Given the description of an element on the screen output the (x, y) to click on. 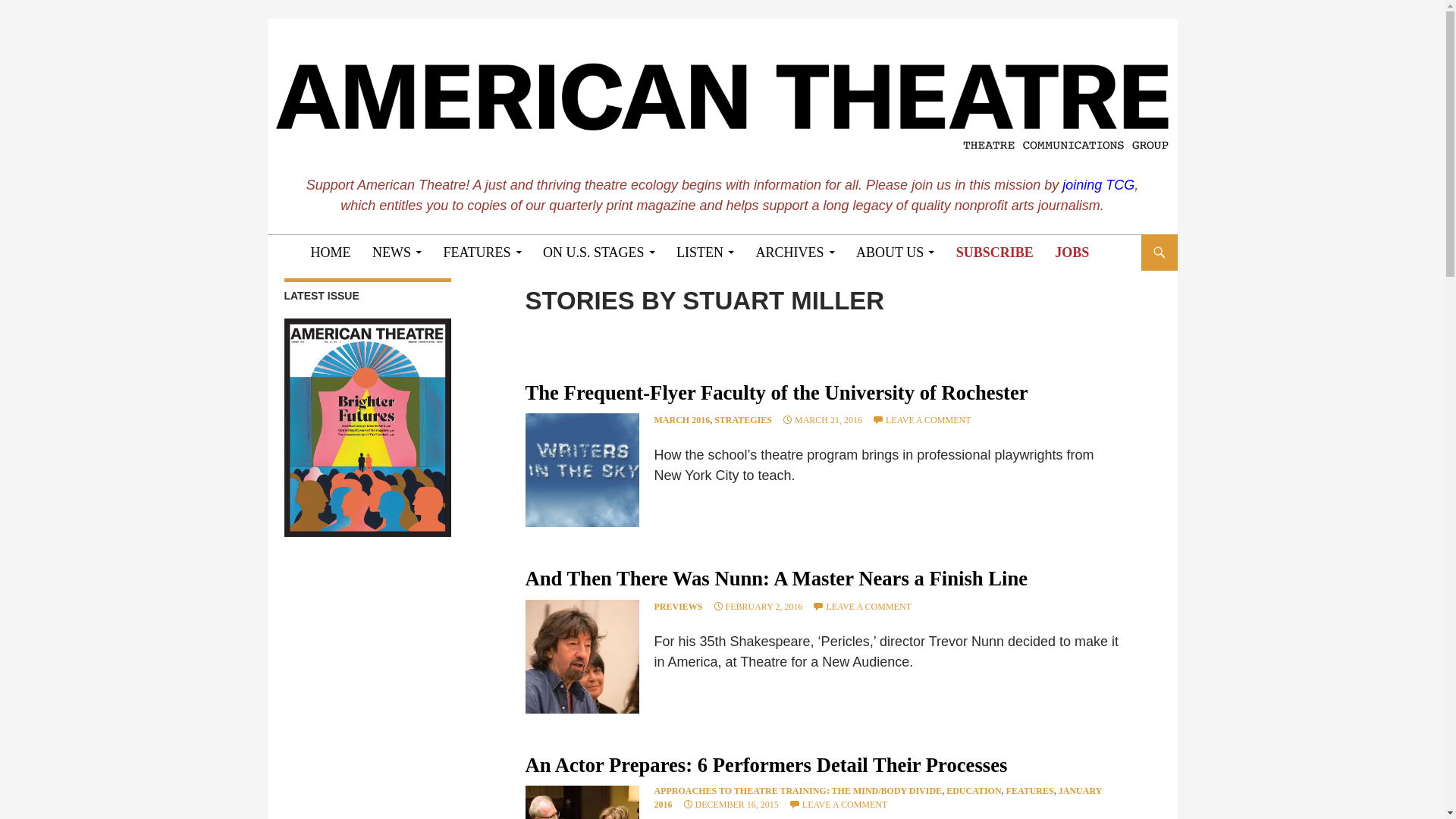
HOME (330, 252)
An Actor Prepares: 6 Performers Detail Their Processes (581, 802)
ON U.S. STAGES (598, 252)
ARCHIVES (795, 252)
LISTEN (704, 252)
View all posts in Strategies (742, 419)
The Frequent-Flyer Faculty of the University of Rochester (581, 470)
NEWS (396, 252)
SUBSCRIBE (994, 252)
FEATURES (481, 252)
And Then There Was Nunn: A Master Nears a Finish Line (581, 656)
AMERICAN THEATRE (403, 251)
JOBS (1071, 252)
